Given the description of an element on the screen output the (x, y) to click on. 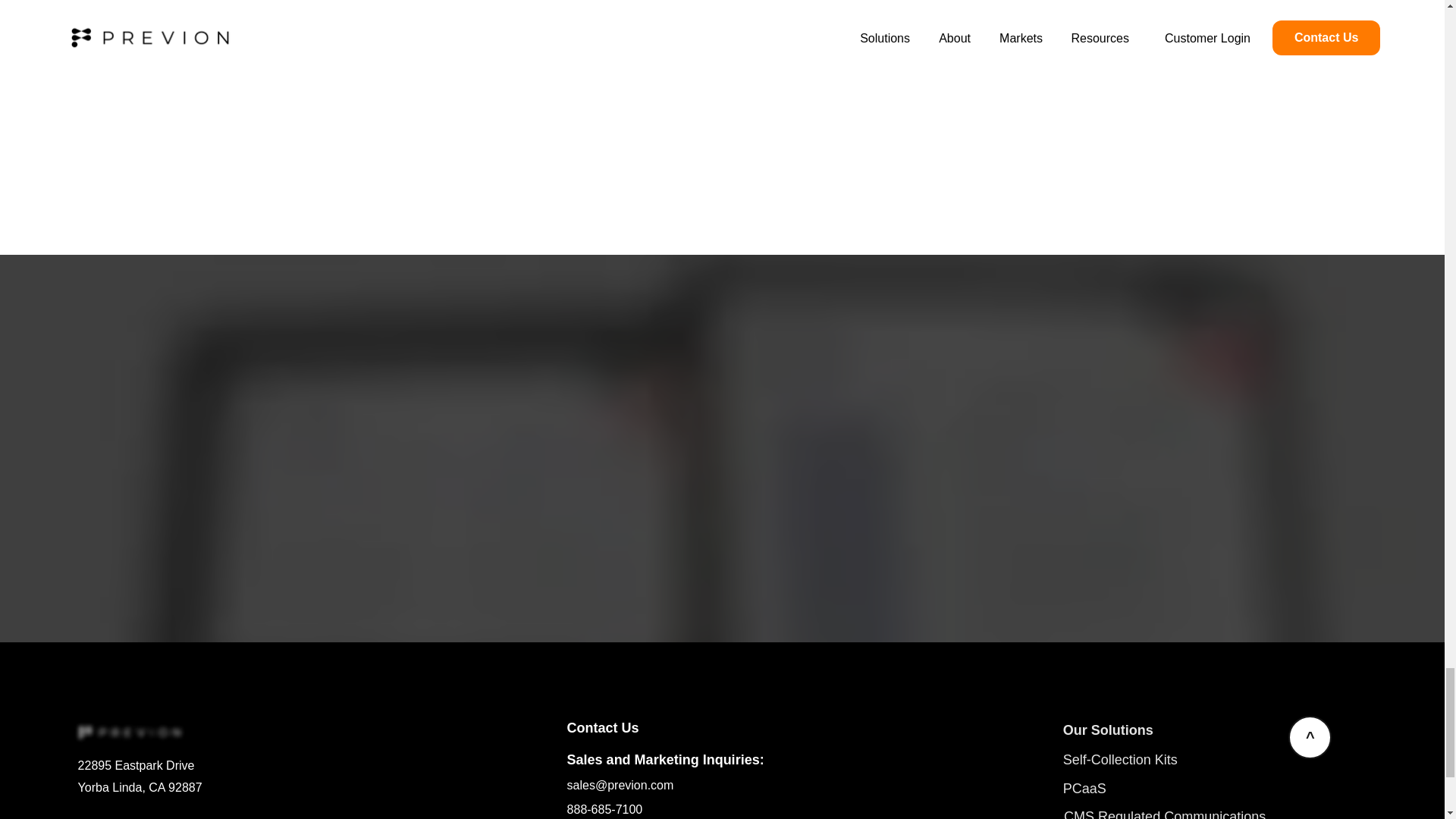
CMS Regulated Communications (1164, 814)
888-685-7100 (605, 809)
PCaaS (1084, 788)
Self-Collection Kits (1119, 759)
